Given the description of an element on the screen output the (x, y) to click on. 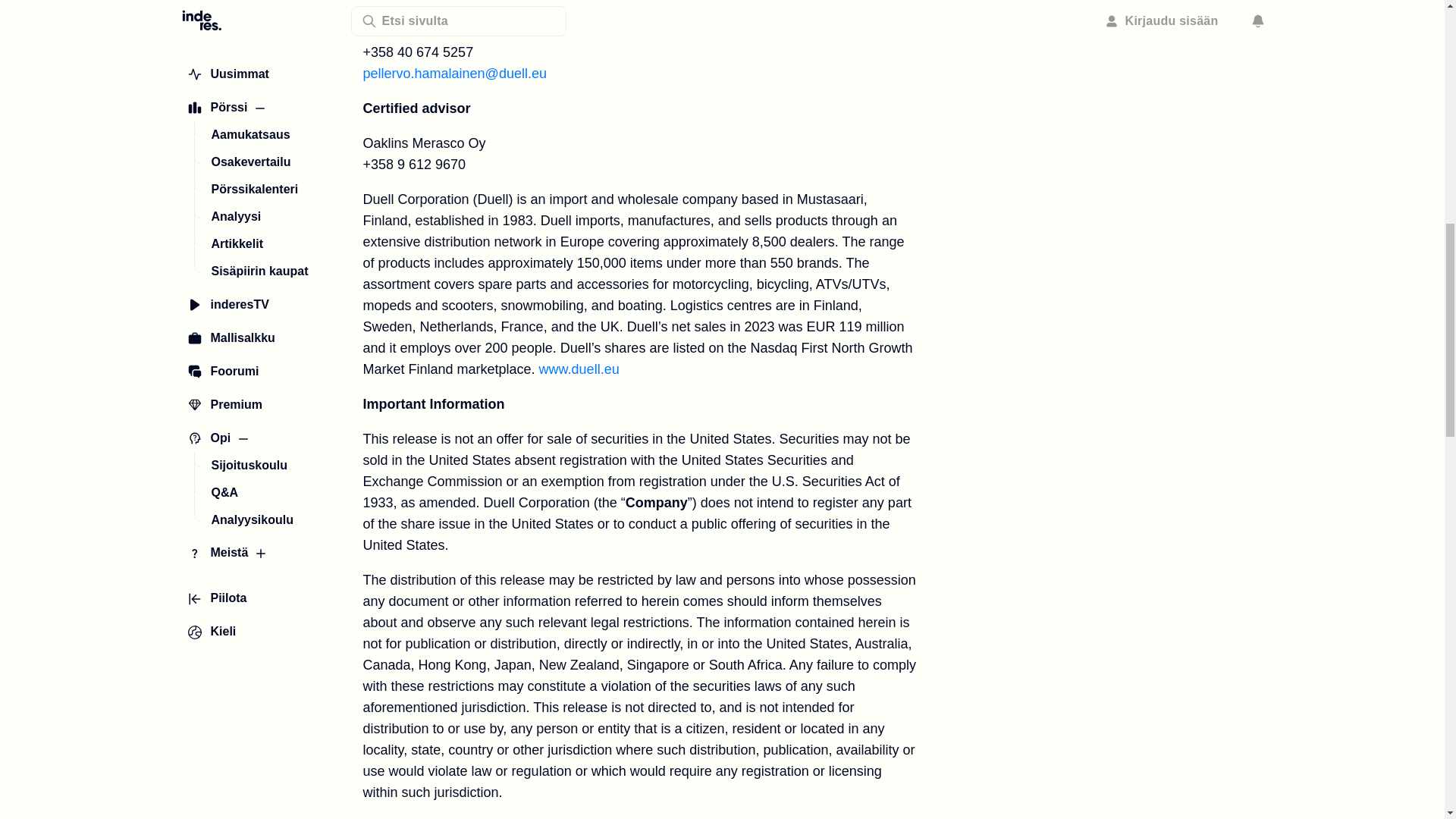
www.duell.eu (579, 368)
